Given the description of an element on the screen output the (x, y) to click on. 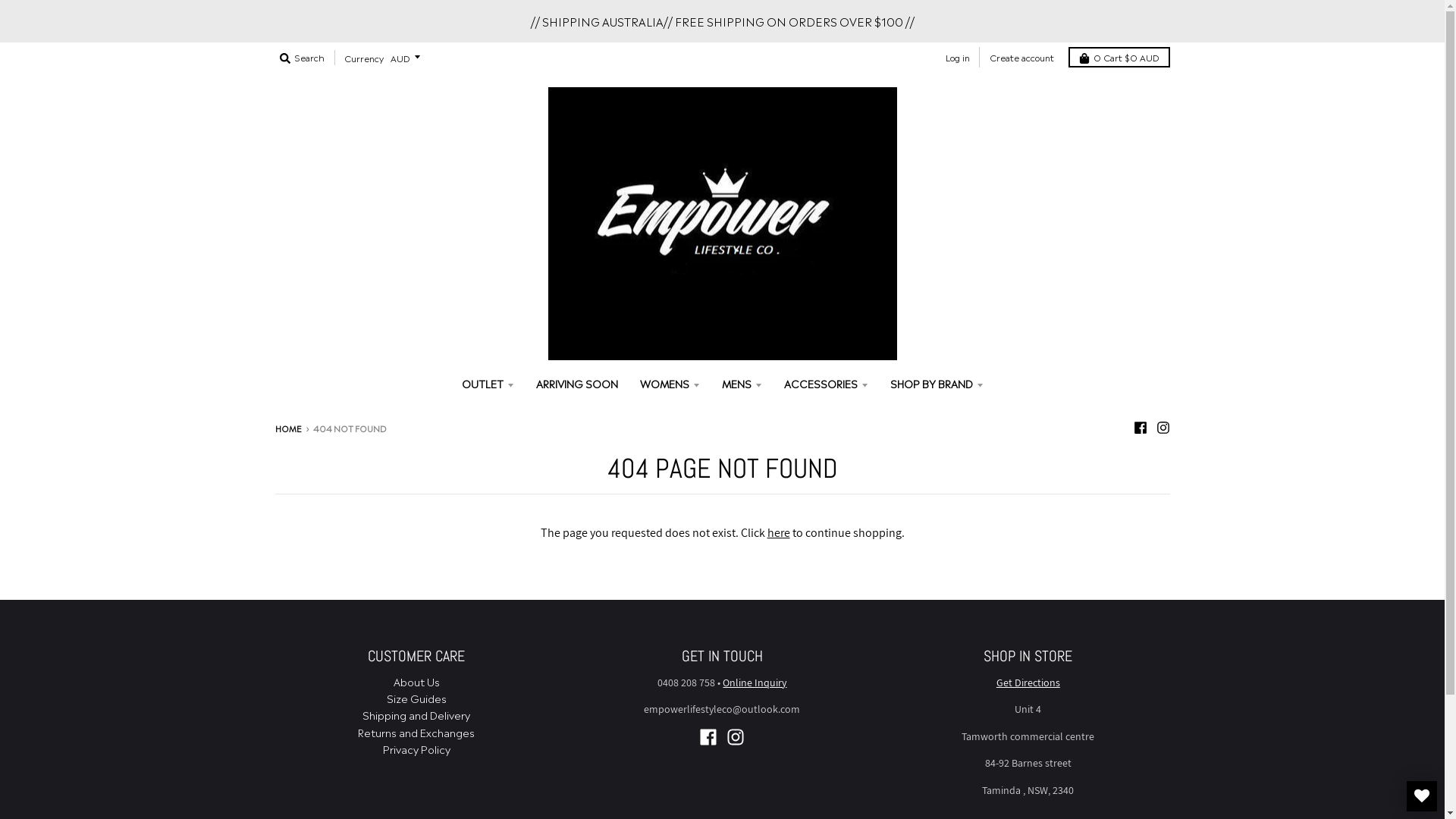
Size Guides Element type: text (416, 697)
Log in Element type: text (956, 57)
ACCESSORIES Element type: text (825, 382)
Create account Element type: text (1020, 57)
Search Element type: text (301, 57)
Facebook - Empower Lifestyle  Element type: hover (1139, 427)
MY WISHLIST Element type: text (1421, 796)
Returns and Exchanges Element type: text (415, 731)
Privacy Policy Element type: text (416, 748)
0 Cart $0 AUD Element type: text (1118, 57)
here Element type: text (778, 532)
WOMENS Element type: text (669, 382)
Shipping and Delivery Element type: text (416, 713)
Online Inquiry Element type: text (754, 682)
OUTLET Element type: text (487, 382)
Instagram - Empower Lifestyle  Element type: hover (1162, 427)
MENS Element type: text (741, 382)
ARRIVING SOON Element type: text (576, 382)
Instagram - Empower Lifestyle  Element type: hover (735, 737)
Facebook - Empower Lifestyle  Element type: hover (708, 737)
HOME Element type: text (287, 427)
SHOP BY BRAND Element type: text (935, 382)
About Us Element type: text (416, 680)
Get Directions Element type: text (1028, 682)
